Given the description of an element on the screen output the (x, y) to click on. 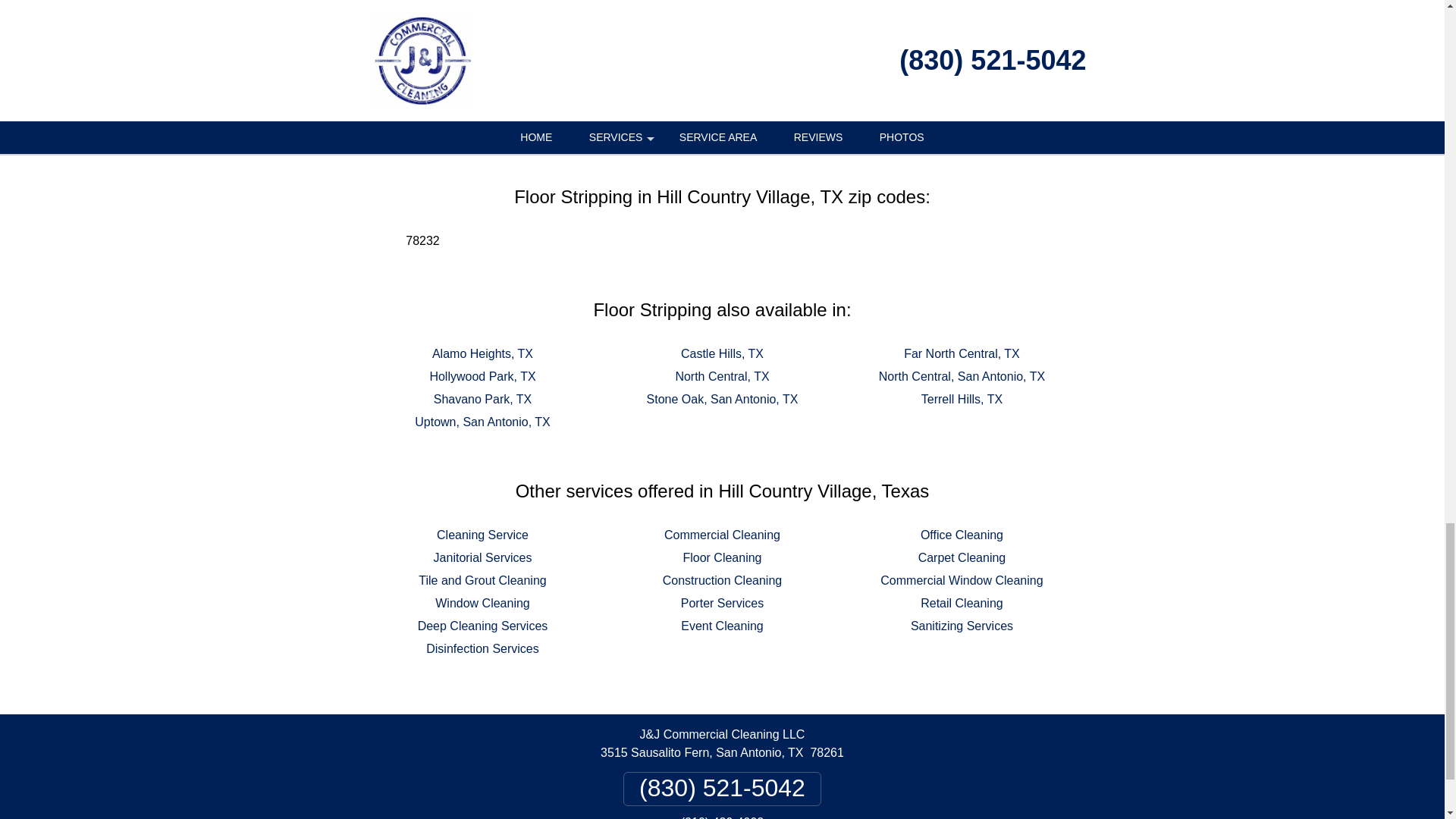
Yelp (749, 108)
Hollywood Park, TX (482, 376)
Shavano Park, TX (482, 399)
Facebook (638, 108)
Stone Oak, San Antonio, TX (721, 399)
Far North Central, TX (962, 353)
Houzz (804, 108)
North Central, TX (721, 376)
Castle Hills, TX (721, 353)
Google (694, 108)
